Given the description of an element on the screen output the (x, y) to click on. 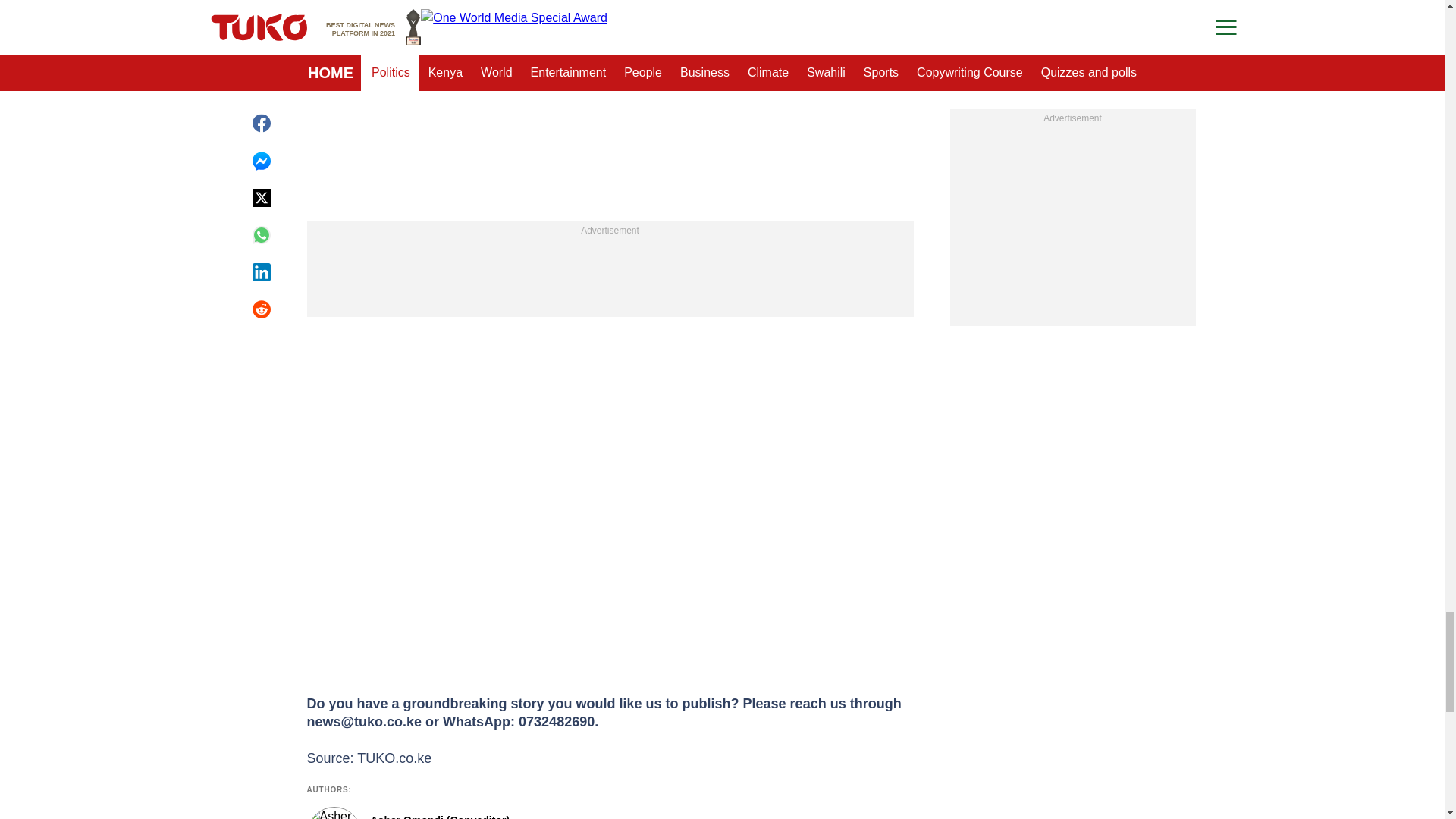
Author page (533, 812)
